Given the description of an element on the screen output the (x, y) to click on. 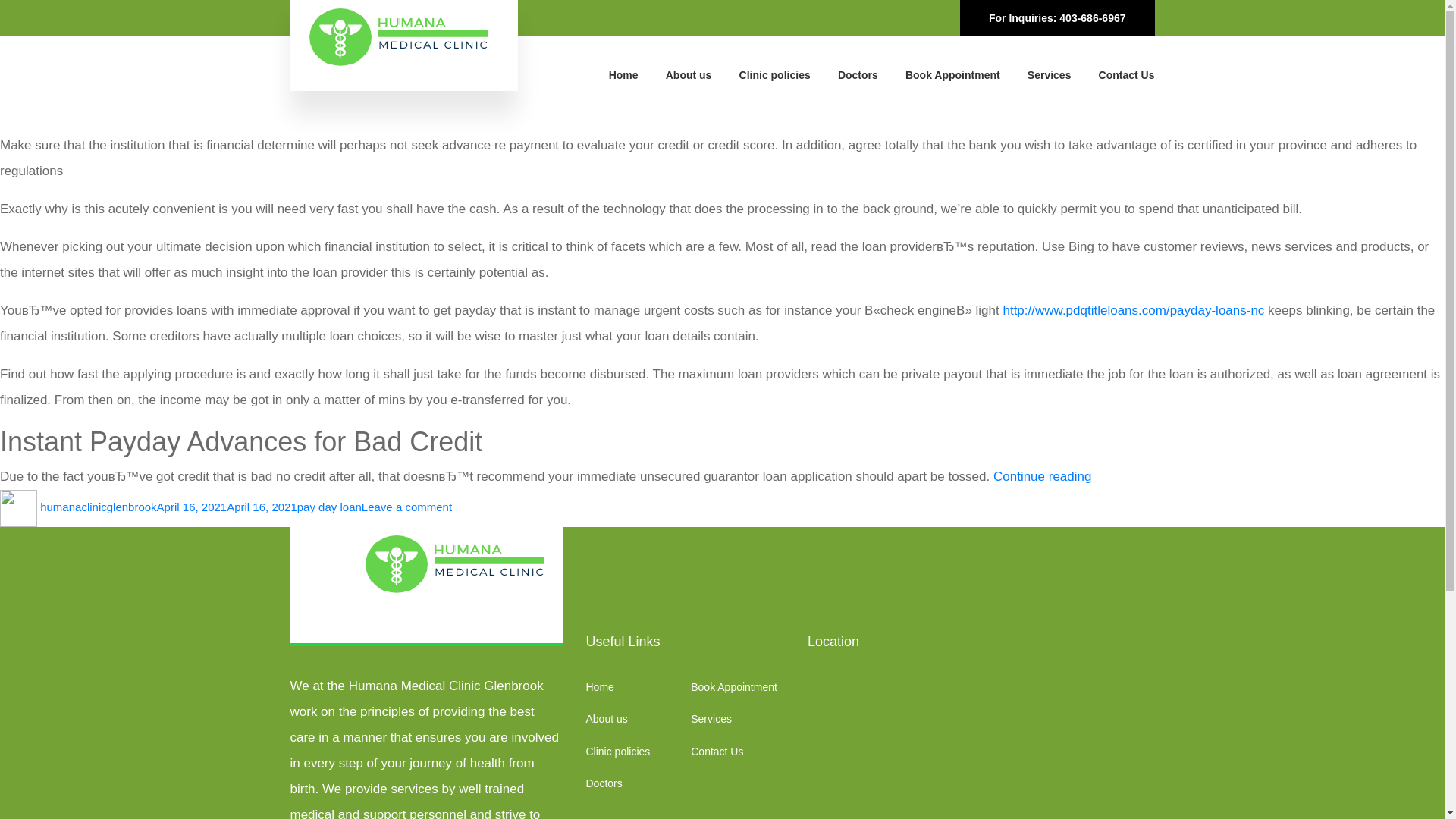
About us (688, 74)
April 16, 2021April 16, 2021 (227, 506)
Get an online cash advance with Instant Approval in Canada (365, 65)
Services (1049, 74)
About us (606, 718)
Doctors (857, 74)
humanaclinicglenbrook (97, 506)
Book Appointment (733, 686)
Home (623, 74)
Doctors (603, 783)
Book Appointment (952, 74)
Contact Us (716, 751)
Home (598, 686)
Contact Us (1126, 74)
